Given the description of an element on the screen output the (x, y) to click on. 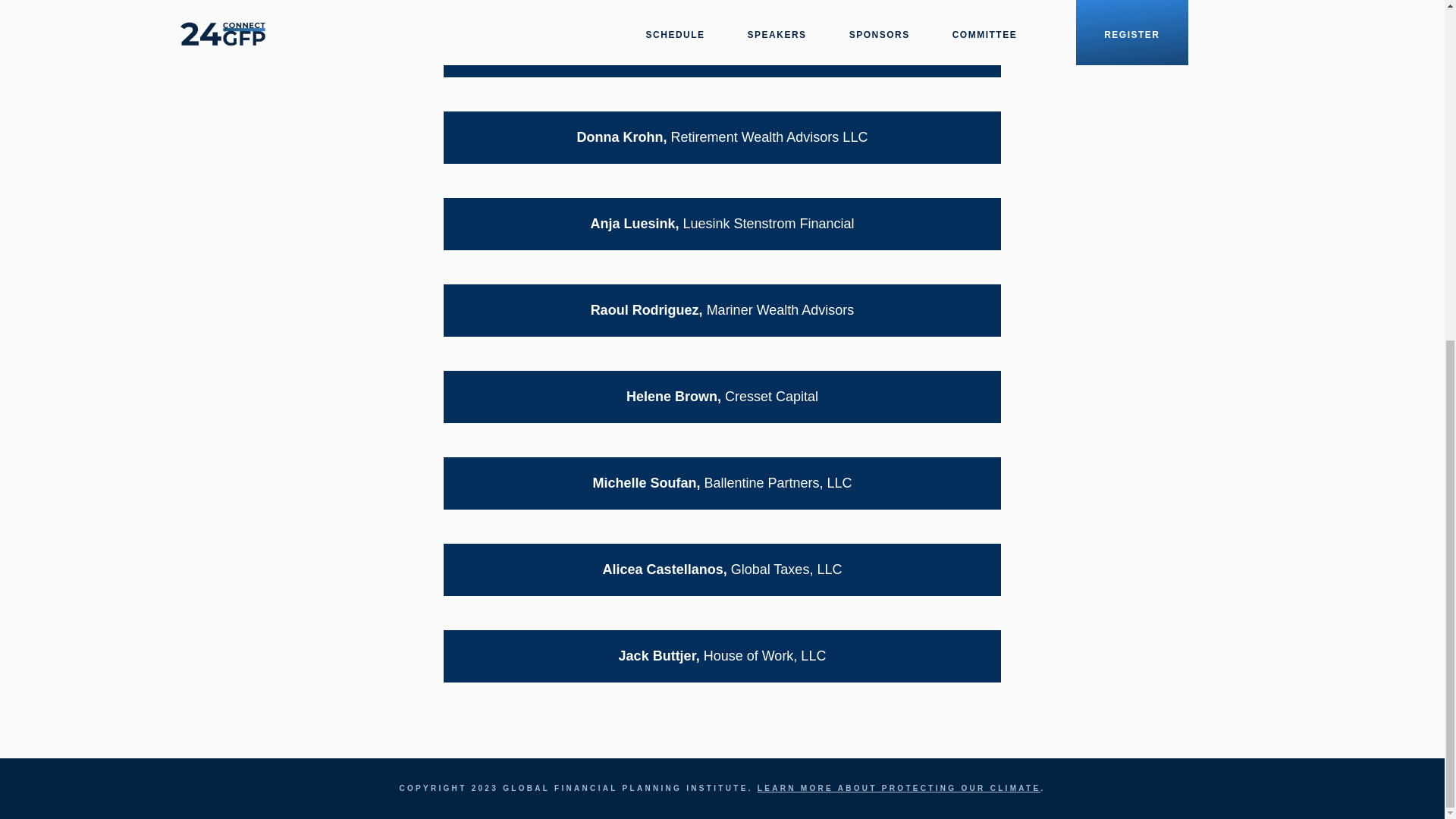
LEARN MORE ABOUT PROTECTING OUR CLIMATE (899, 787)
